Given the description of an element on the screen output the (x, y) to click on. 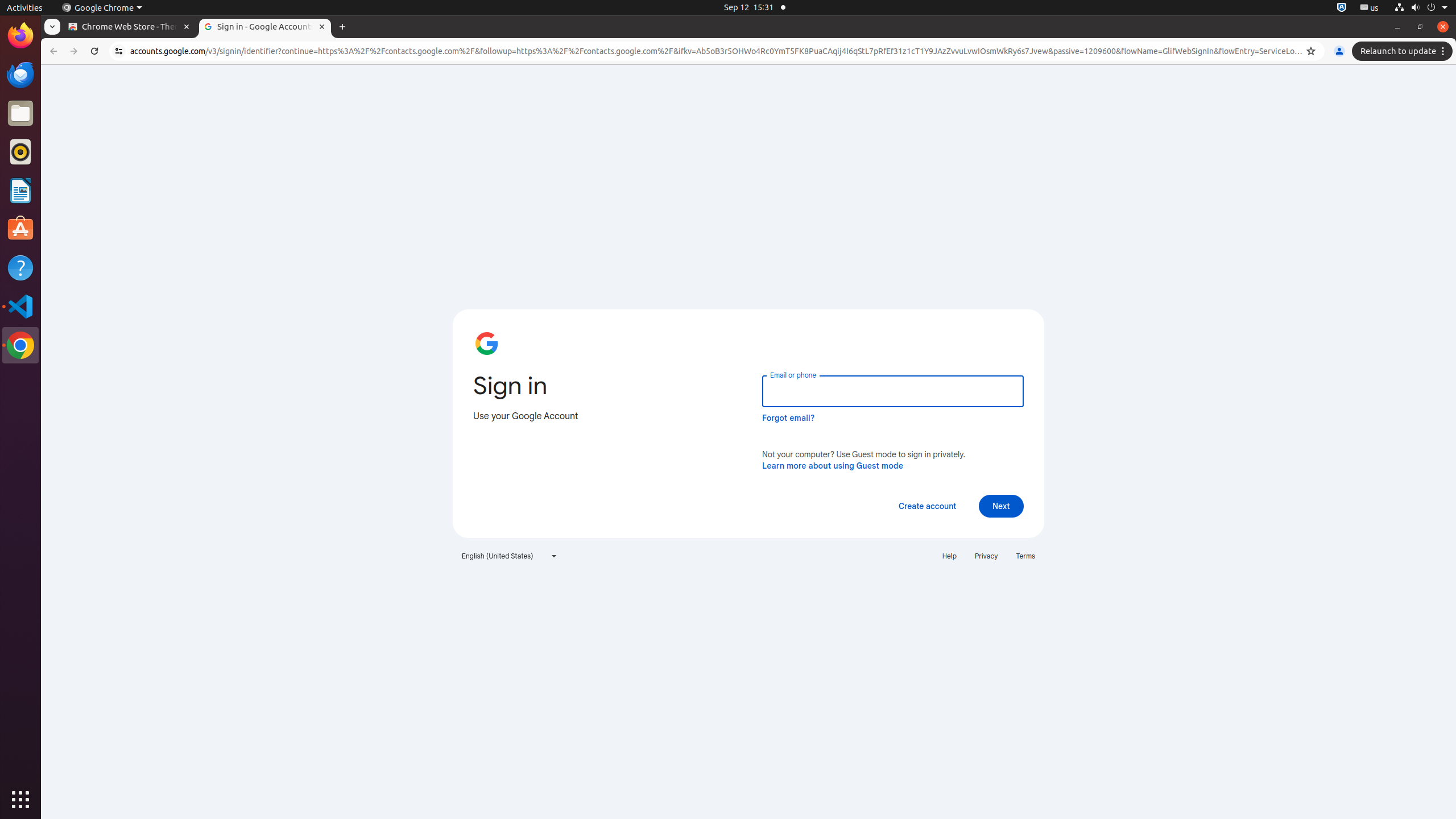
Reload Element type: push-button (94, 50)
Ubuntu Software Element type: push-button (20, 229)
Privacy Element type: link (985, 556)
Google Chrome Element type: menu (101, 7)
Back Element type: push-button (51, 50)
